Given the description of an element on the screen output the (x, y) to click on. 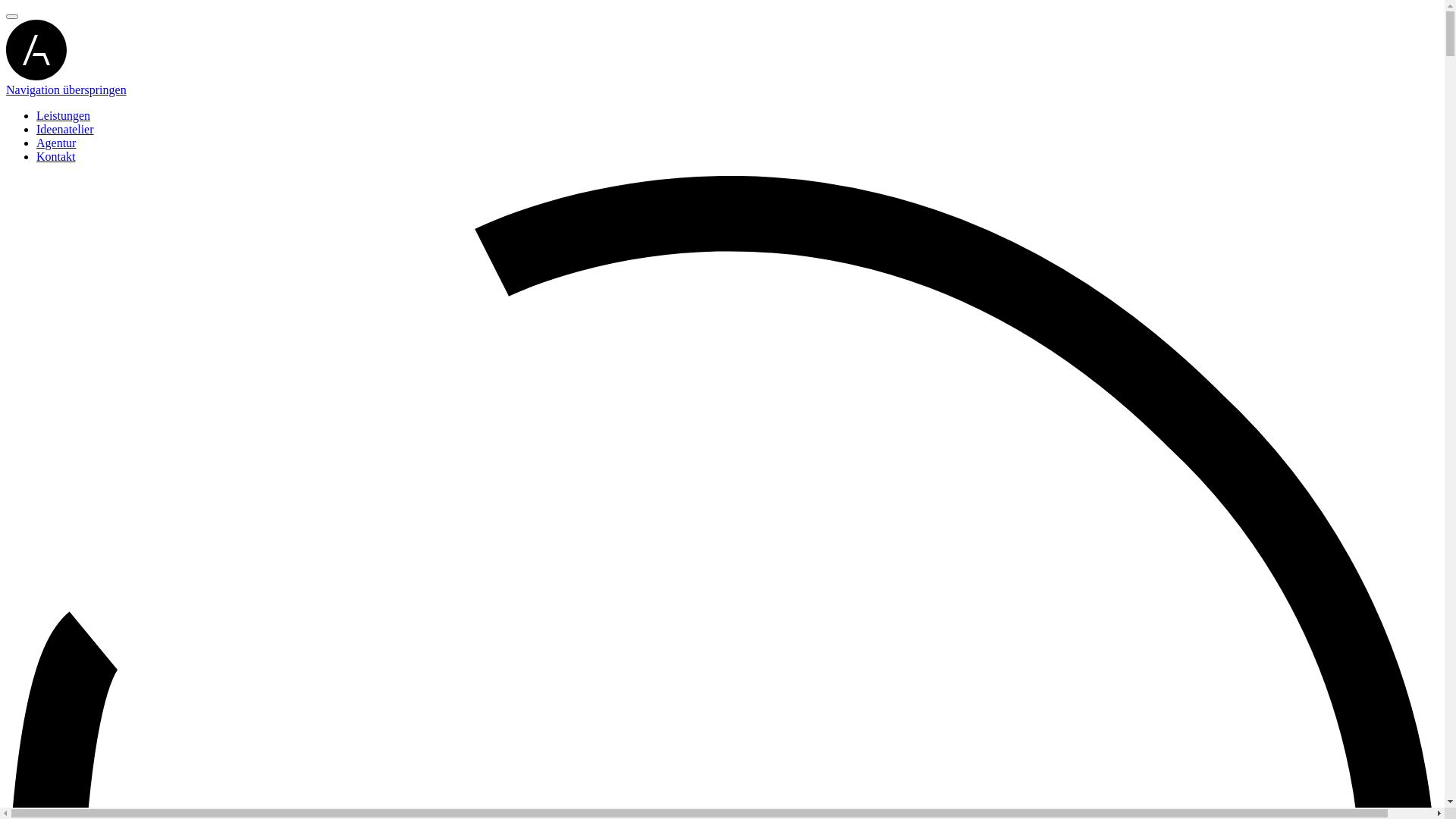
Kontakt Element type: text (55, 156)
Agentur Element type: text (55, 142)
Ideenatelier Element type: text (65, 128)
Leistungen Element type: text (63, 115)
